Given the description of an element on the screen output the (x, y) to click on. 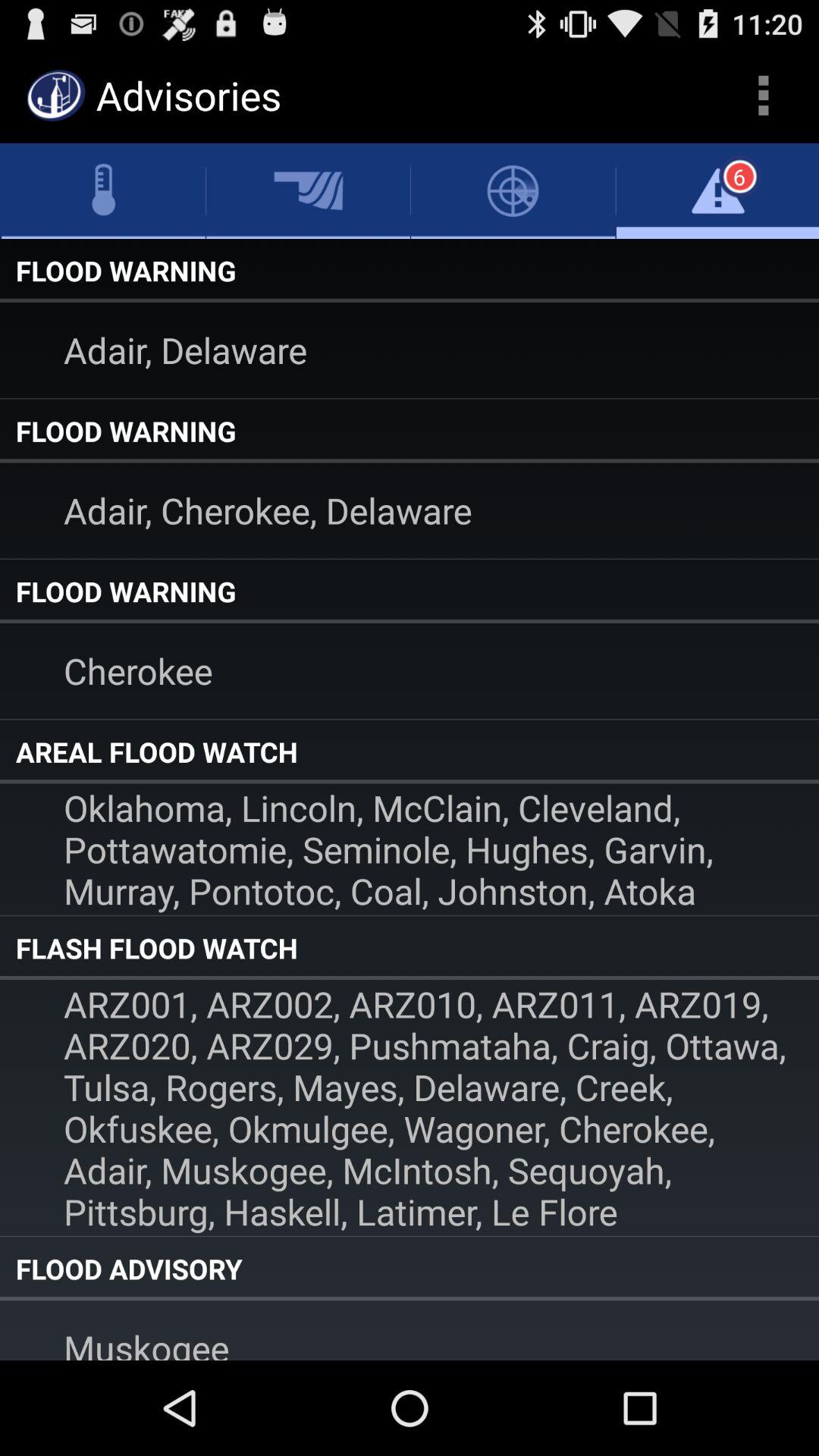
swipe to the flood advisory item (409, 1268)
